Given the description of an element on the screen output the (x, y) to click on. 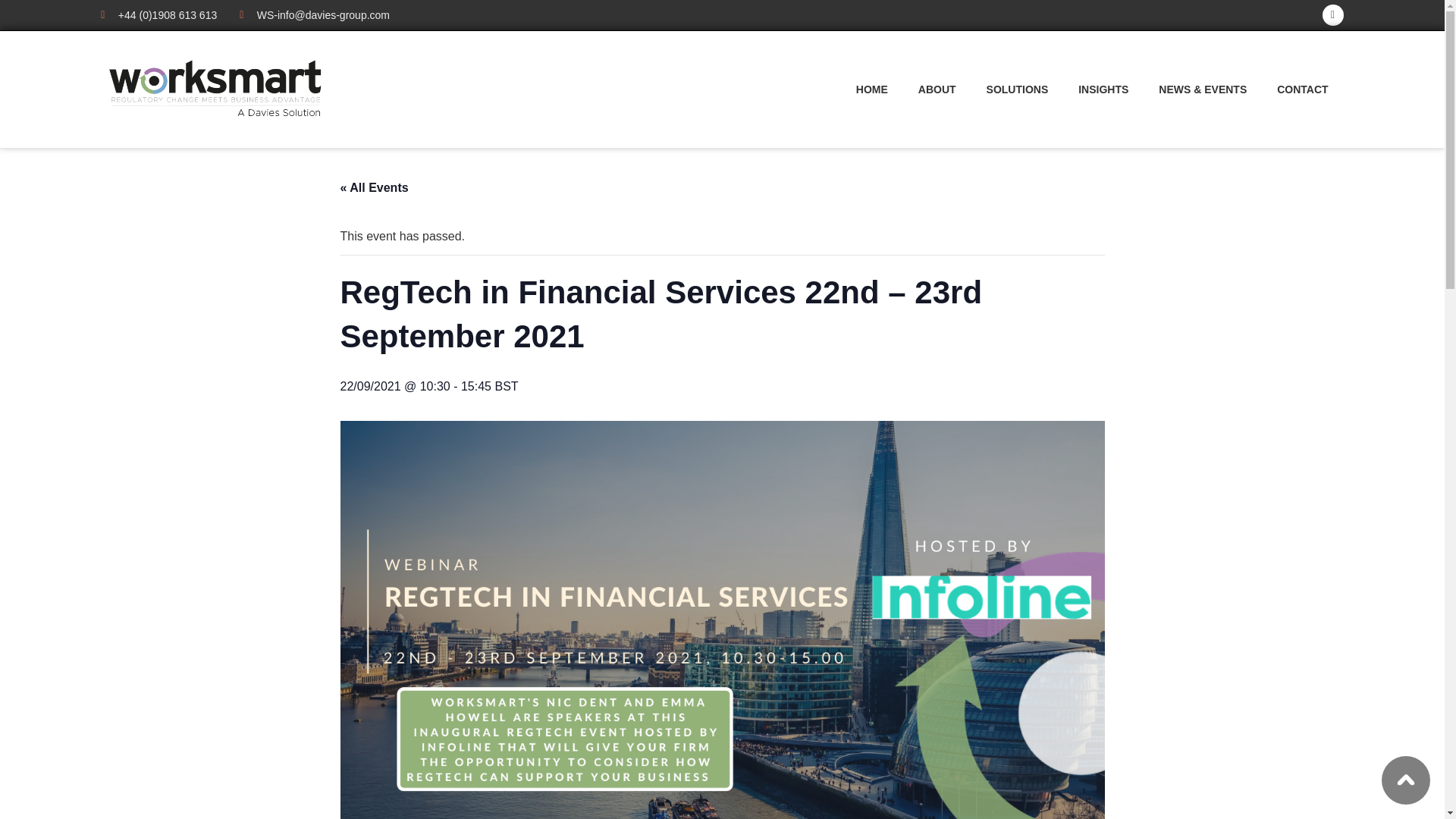
INSIGHTS (1102, 89)
HOME (871, 89)
CONTACT (1302, 89)
ABOUT (936, 89)
SOLUTIONS (1017, 89)
